Given the description of an element on the screen output the (x, y) to click on. 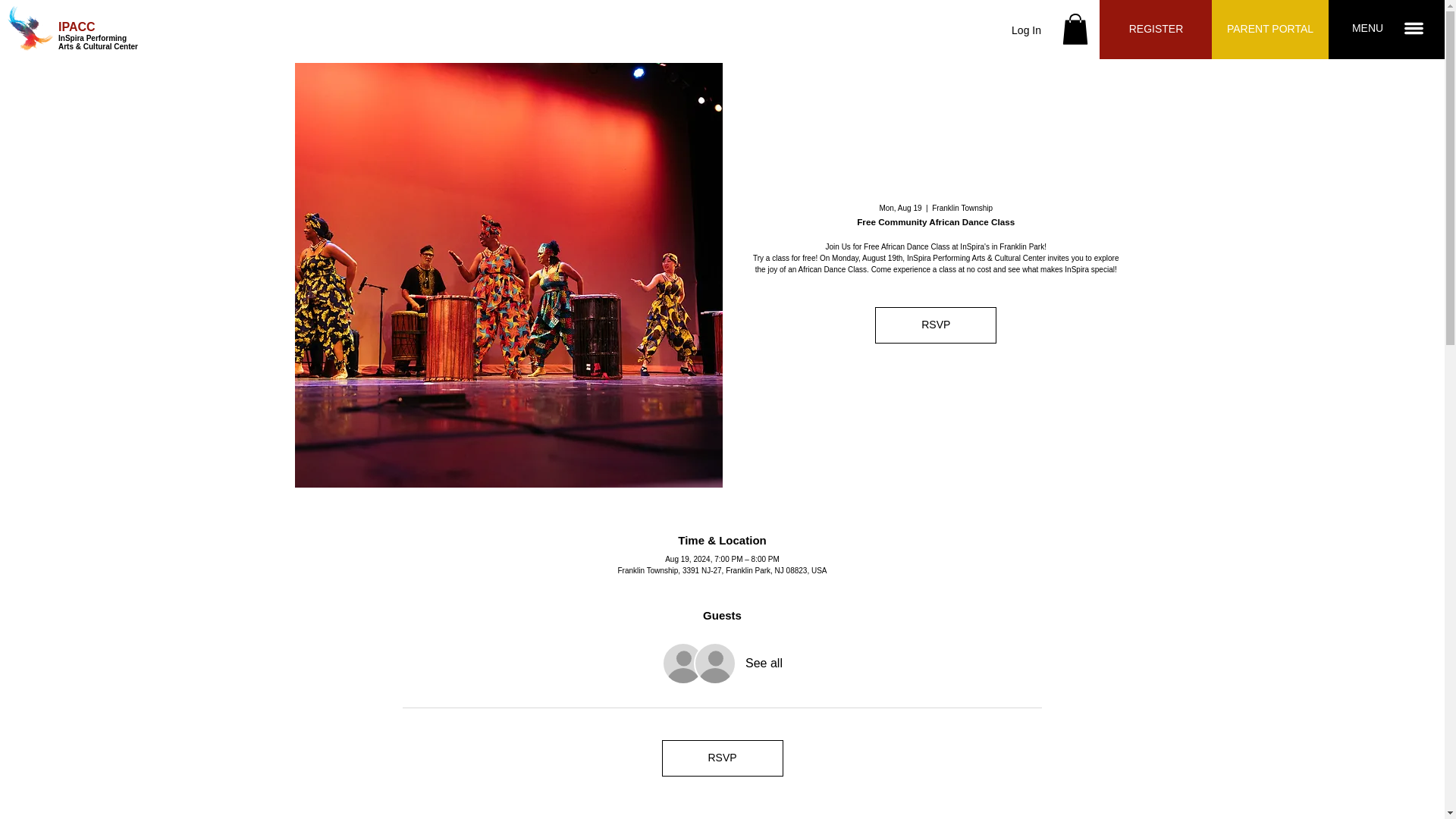
IPACC (77, 26)
REGISTER (1155, 29)
Log In (1026, 30)
PARENT PORTAL (1269, 29)
See all (764, 663)
RSVP (722, 758)
RSVP (935, 325)
